Given the description of an element on the screen output the (x, y) to click on. 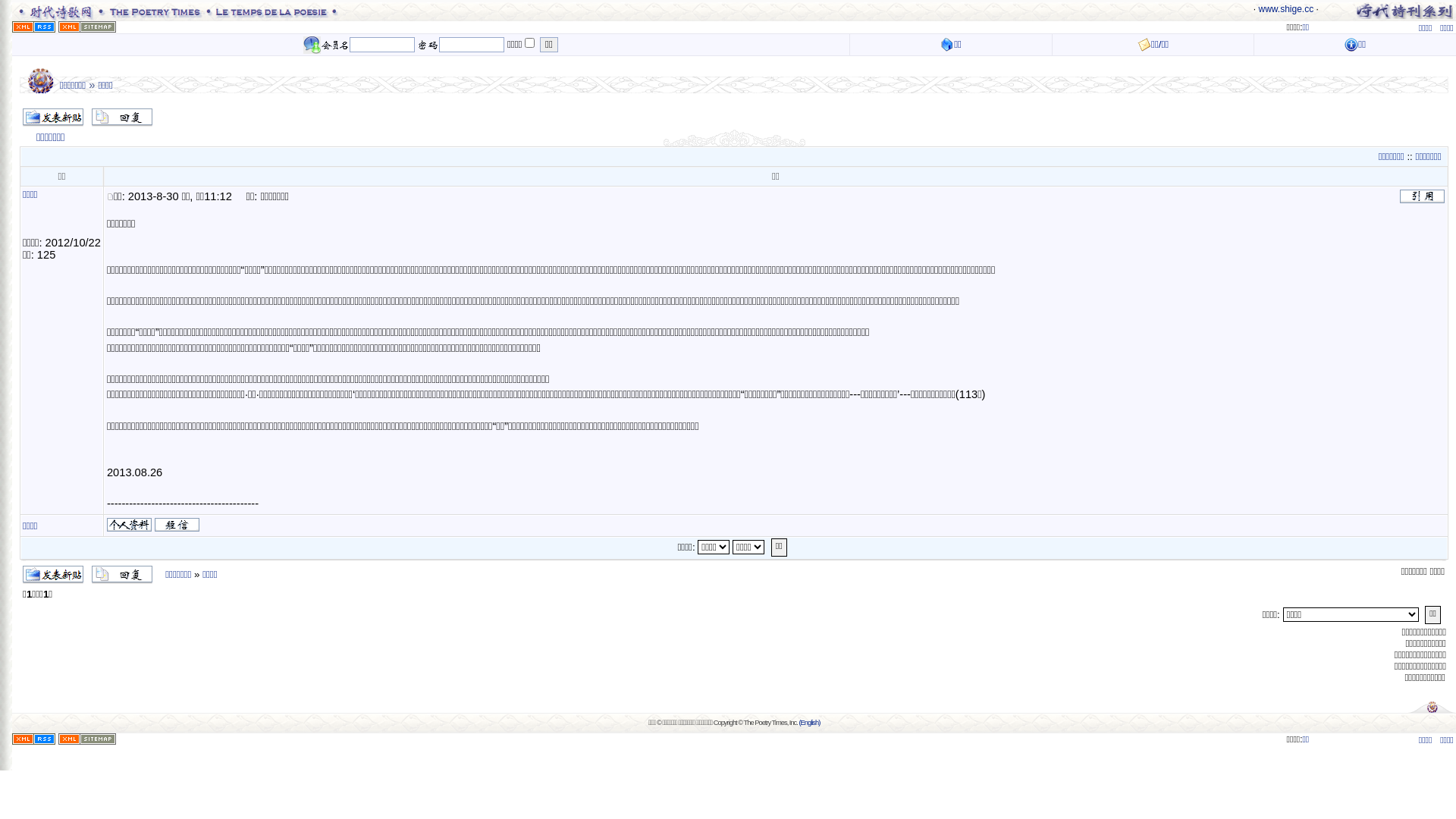
www.shige.cc Element type: text (1285, 8)
(English) Element type: text (808, 722)
